Given the description of an element on the screen output the (x, y) to click on. 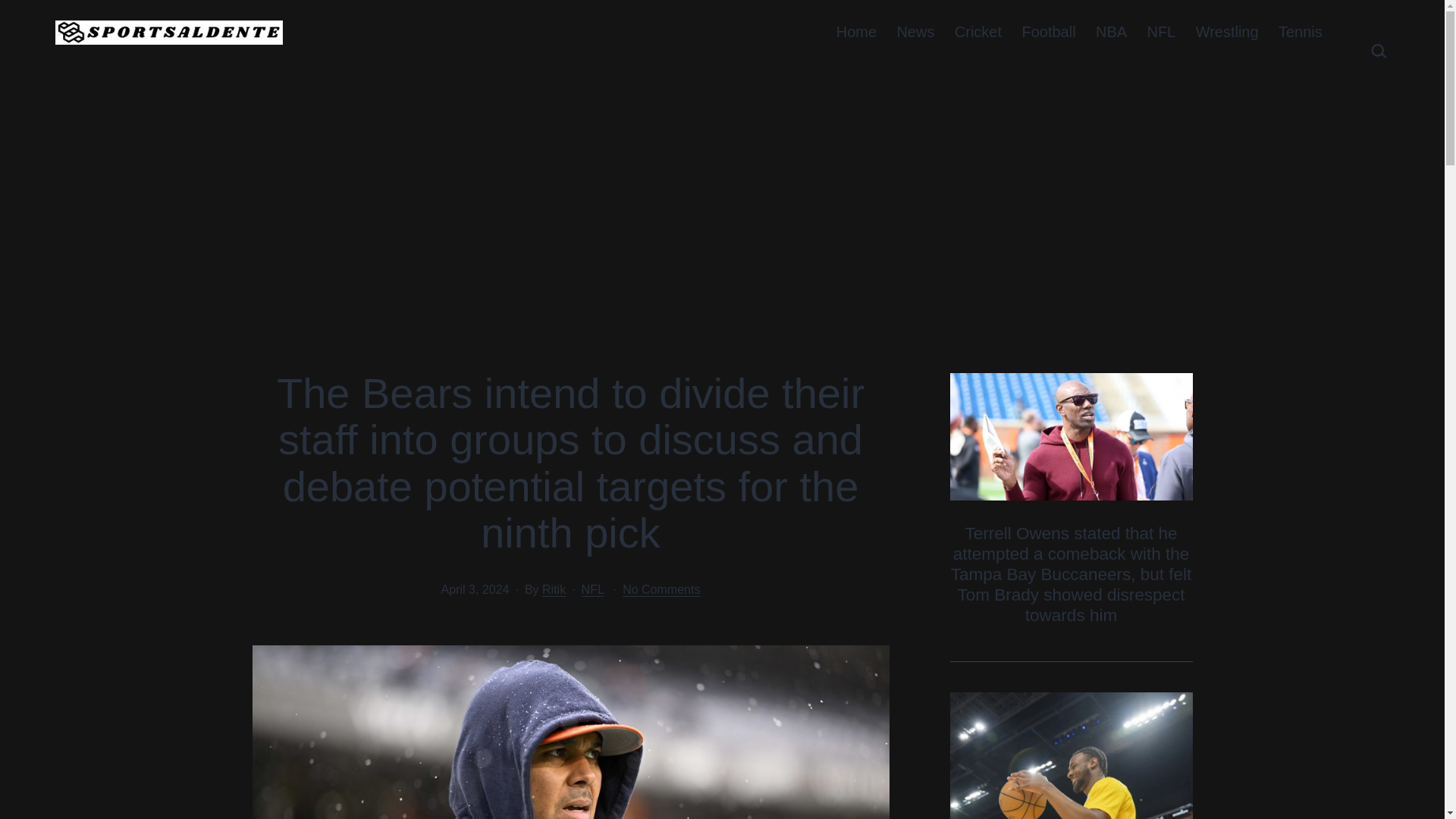
Ritik (553, 589)
NFL (592, 589)
News (914, 31)
NBA (1111, 31)
NFL (1161, 31)
Cricket (977, 31)
Football (1048, 31)
Tennis (1300, 31)
Wrestling (1226, 31)
Home (856, 31)
